Given the description of an element on the screen output the (x, y) to click on. 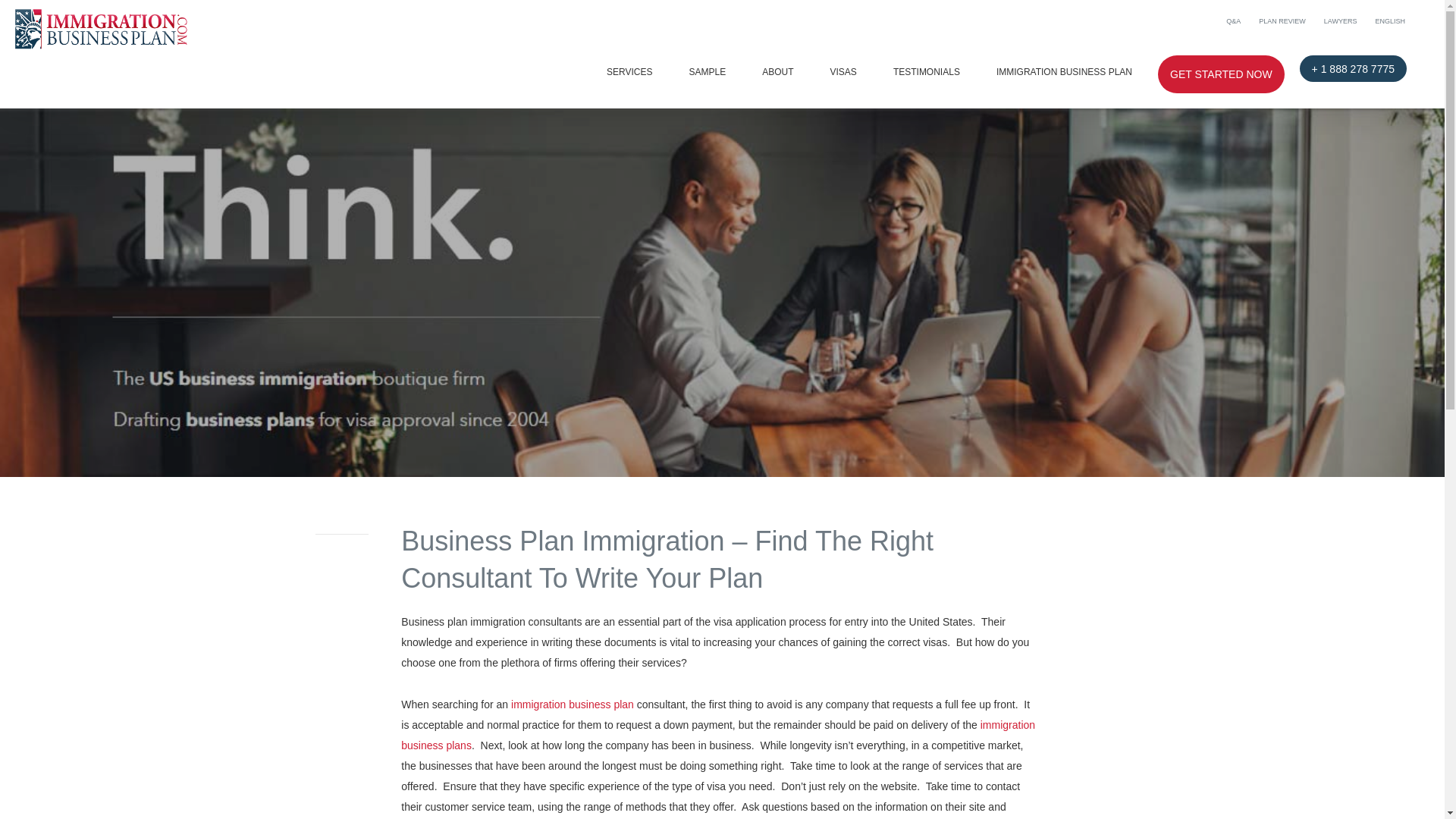
LAWYERS (1340, 21)
ENGLISH (1389, 21)
English (1389, 21)
PLAN REVIEW (1281, 21)
